Given the description of an element on the screen output the (x, y) to click on. 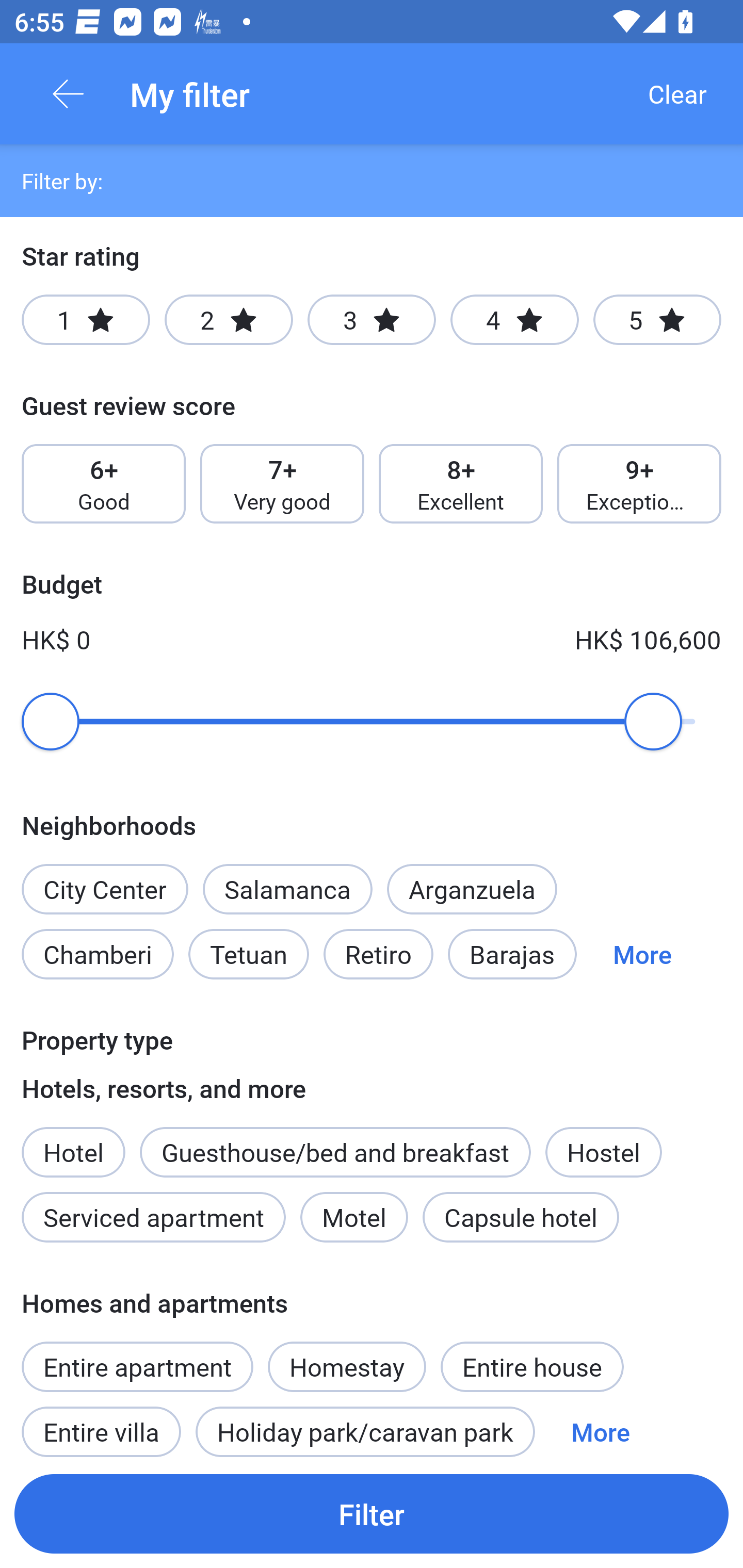
Clear (676, 93)
1 (85, 319)
2 (228, 319)
3 (371, 319)
4 (514, 319)
5 (657, 319)
6+ Good (103, 483)
7+ Very good (281, 483)
8+ Excellent (460, 483)
9+ Exceptional (639, 483)
City Center (104, 888)
Salamanca (287, 888)
Arganzuela (472, 888)
Chamberi (97, 954)
Tetuan (248, 954)
Retiro (378, 954)
Barajas (512, 954)
More (642, 954)
Hotel (73, 1141)
Guesthouse/bed and breakfast (335, 1151)
Hostel (603, 1151)
Serviced apartment (153, 1217)
Motel (353, 1217)
Capsule hotel (520, 1217)
Entire apartment (137, 1366)
Homestay (346, 1356)
Entire house (532, 1366)
Entire villa (101, 1424)
Holiday park/caravan park (364, 1424)
More (600, 1424)
Filter (371, 1513)
